Given the description of an element on the screen output the (x, y) to click on. 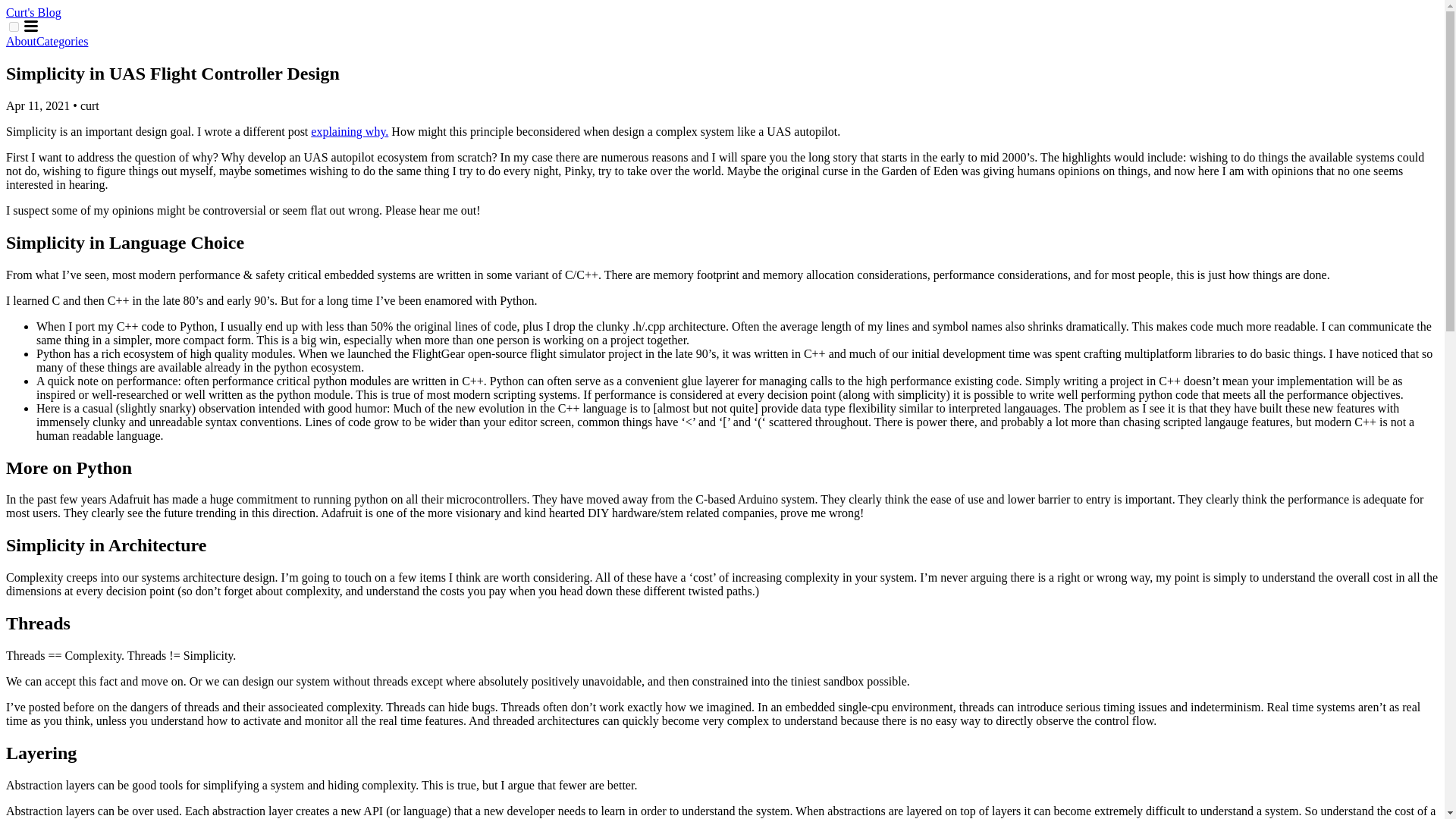
Curt's Blog (33, 11)
Categories (61, 41)
explaining why. (349, 131)
on (13, 26)
About (20, 41)
